Given the description of an element on the screen output the (x, y) to click on. 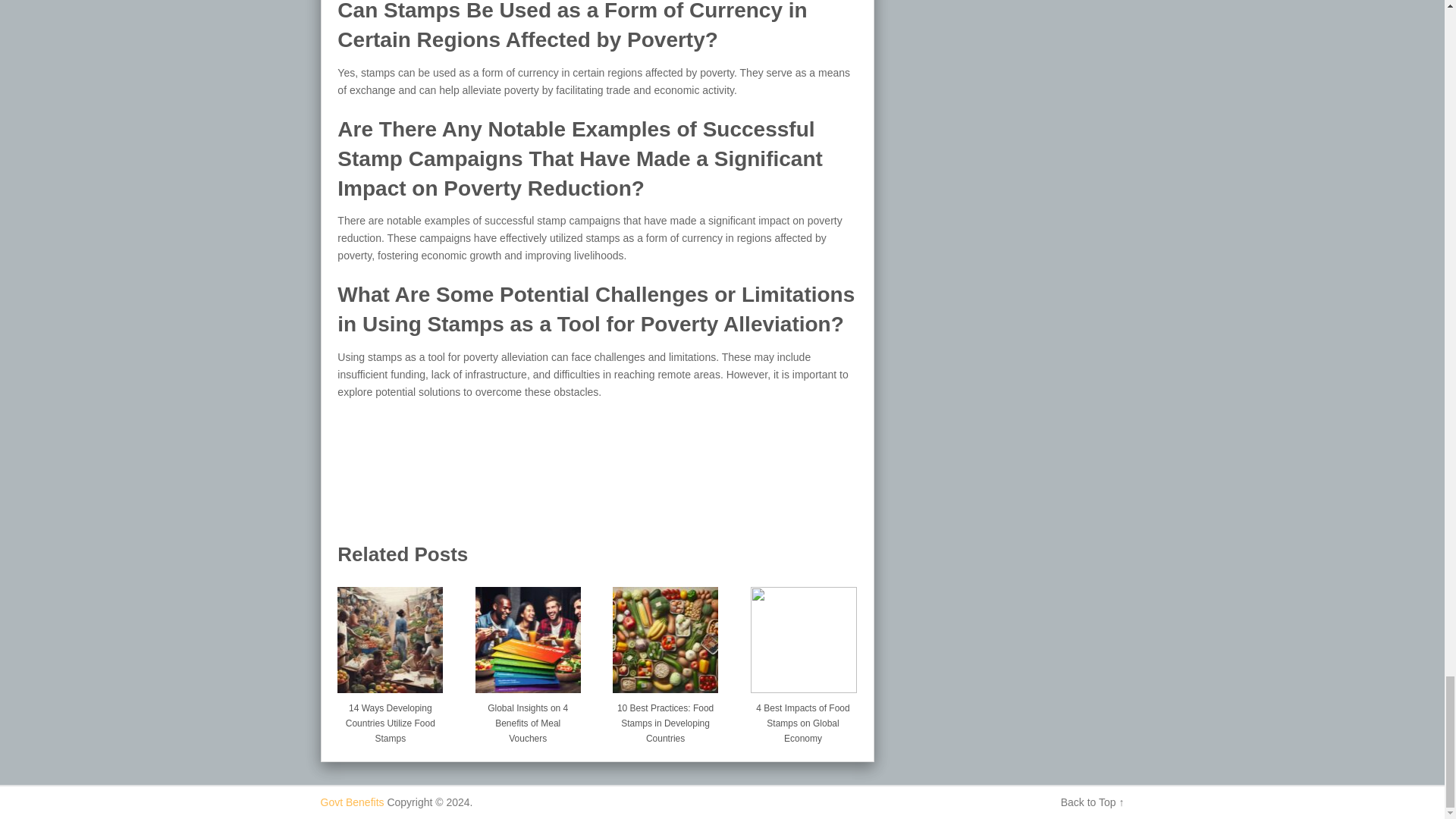
Global Insights on 4 Benefits of Meal Vouchers (528, 719)
10 Best Practices: Food Stamps in Developing Countries (664, 719)
4 Best Impacts of Food Stamps on Global Economy (803, 719)
Govt Benefits (352, 802)
14 Ways Developing Countries Utilize Food Stamps (389, 719)
14 Ways Developing Countries Utilize Food Stamps (389, 719)
Global Insights on 4 Benefits of Meal Vouchers (528, 719)
10 Best Practices: Food Stamps in Developing Countries (664, 719)
10 Best Practices: Food Stamps in Developing Countries (664, 633)
14 Ways Developing Countries Utilize Food Stamps (389, 633)
4 Best Impacts of Food Stamps on Global Economy (803, 719)
4 Best Impacts of Food Stamps on Global Economy (803, 633)
Global Insights on 4 Benefits of Meal Vouchers (528, 633)
